Given the description of an element on the screen output the (x, y) to click on. 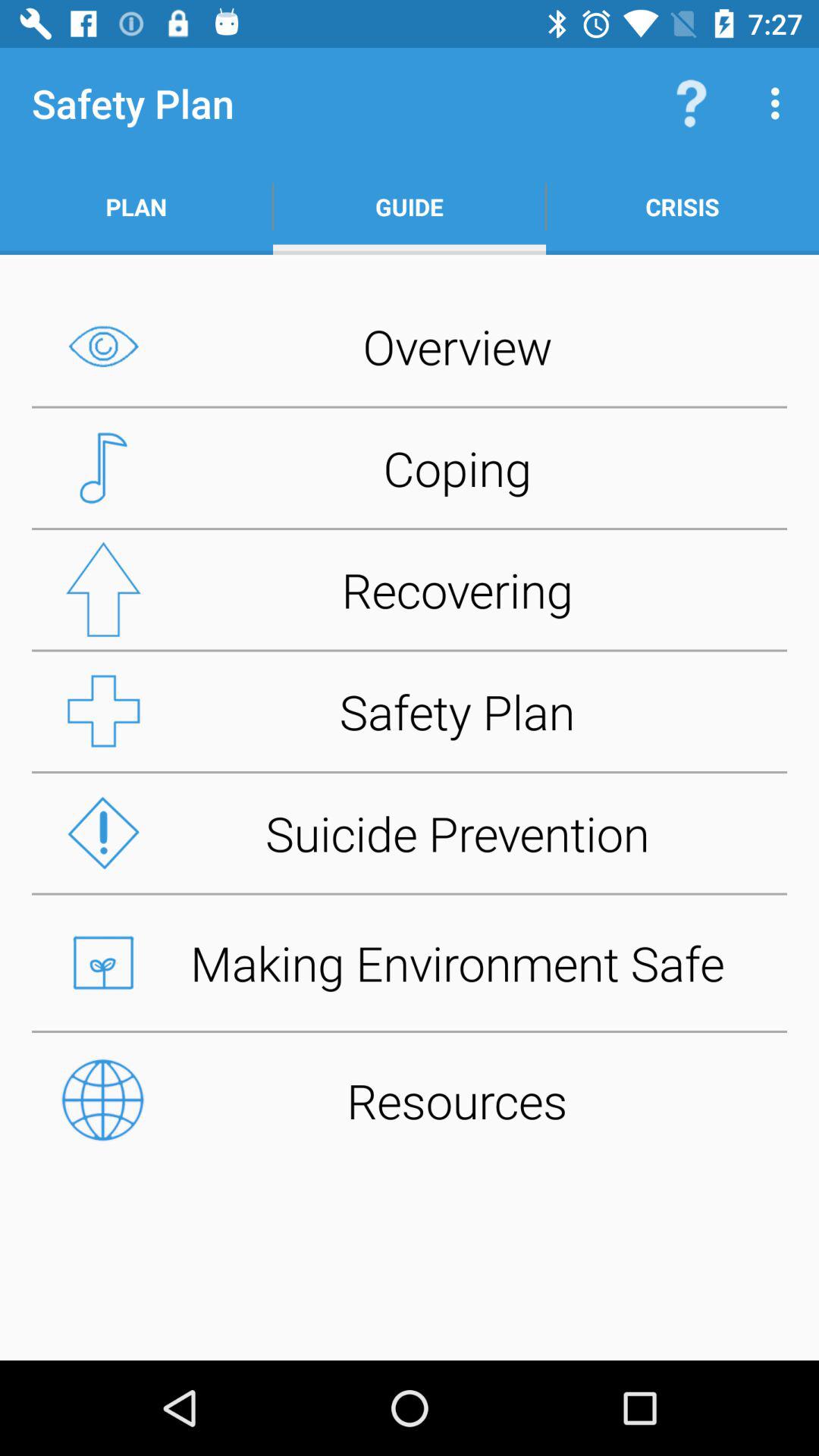
open item next to plan (409, 206)
